Given the description of an element on the screen output the (x, y) to click on. 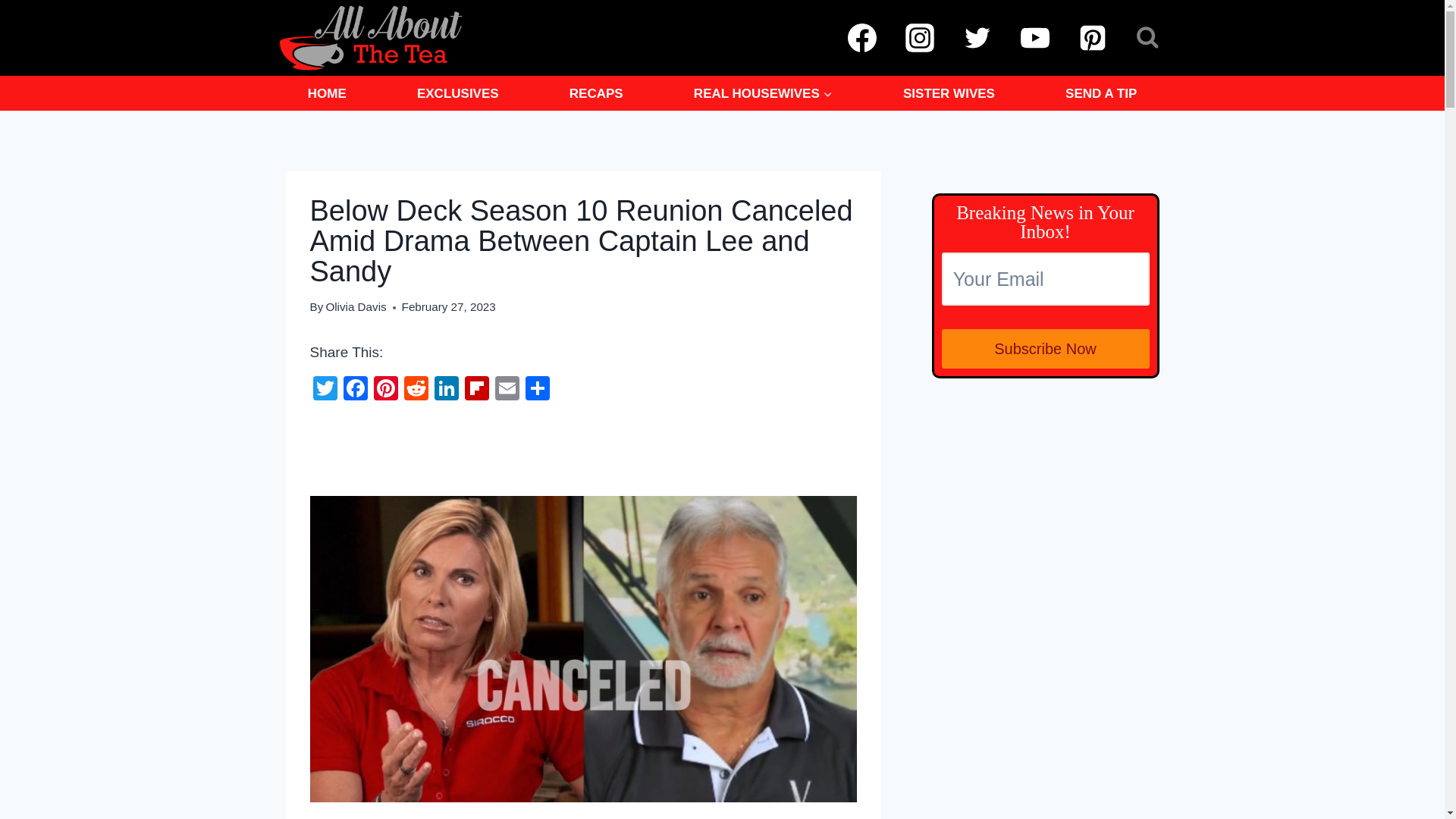
RECAPS (596, 93)
Email (506, 389)
Flipboard (476, 389)
Share (536, 389)
SEND A TIP (1100, 93)
Facebook (354, 389)
HOME (326, 93)
Twitter (323, 389)
Reddit (415, 389)
REAL HOUSEWIVES (762, 93)
LinkedIn (445, 389)
Reddit (415, 389)
LinkedIn (445, 389)
Olivia Davis (354, 306)
Pinterest (384, 389)
